Given the description of an element on the screen output the (x, y) to click on. 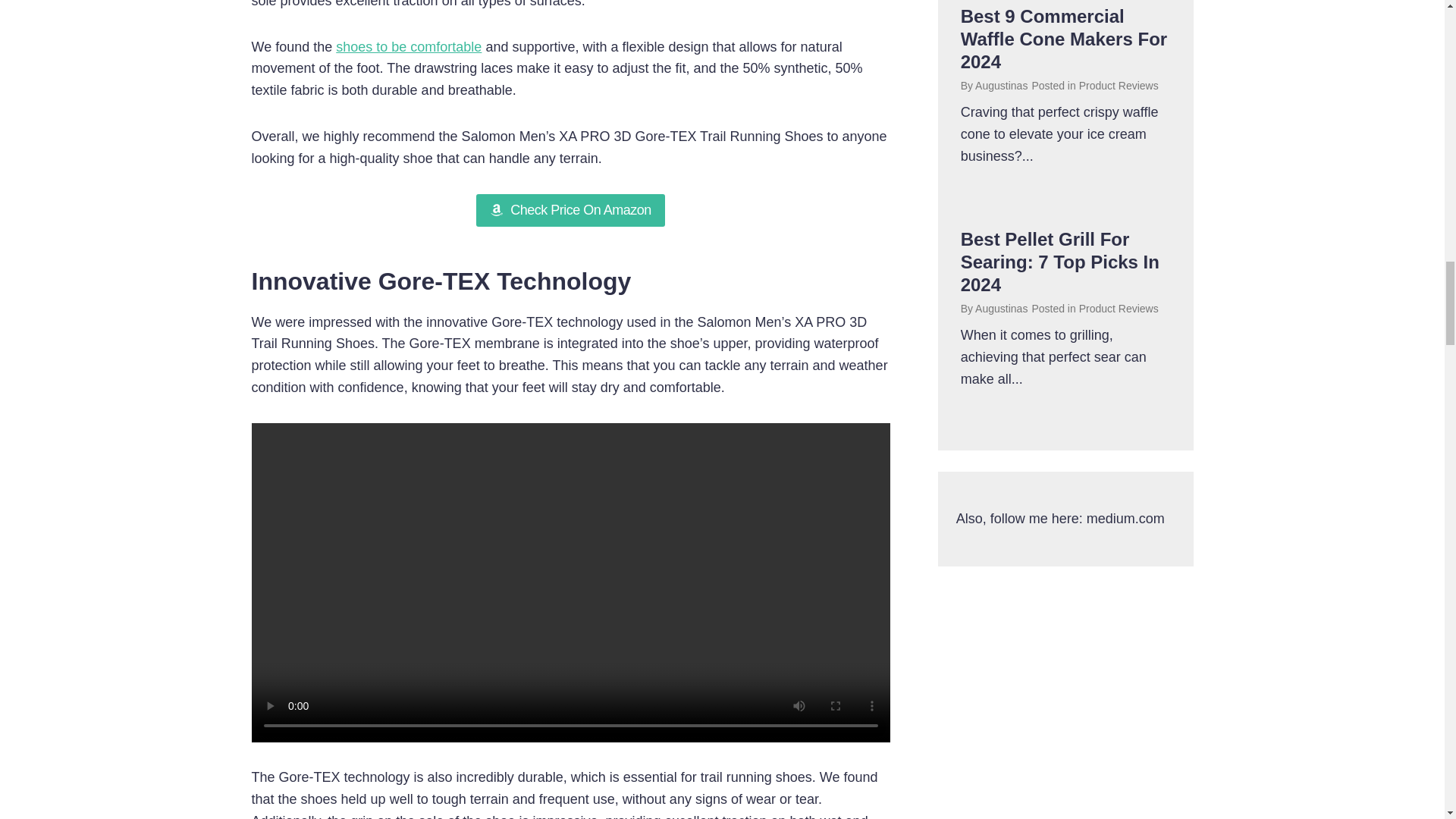
shoes to be comfortable (408, 46)
Check Price On Amazon (570, 210)
